Given the description of an element on the screen output the (x, y) to click on. 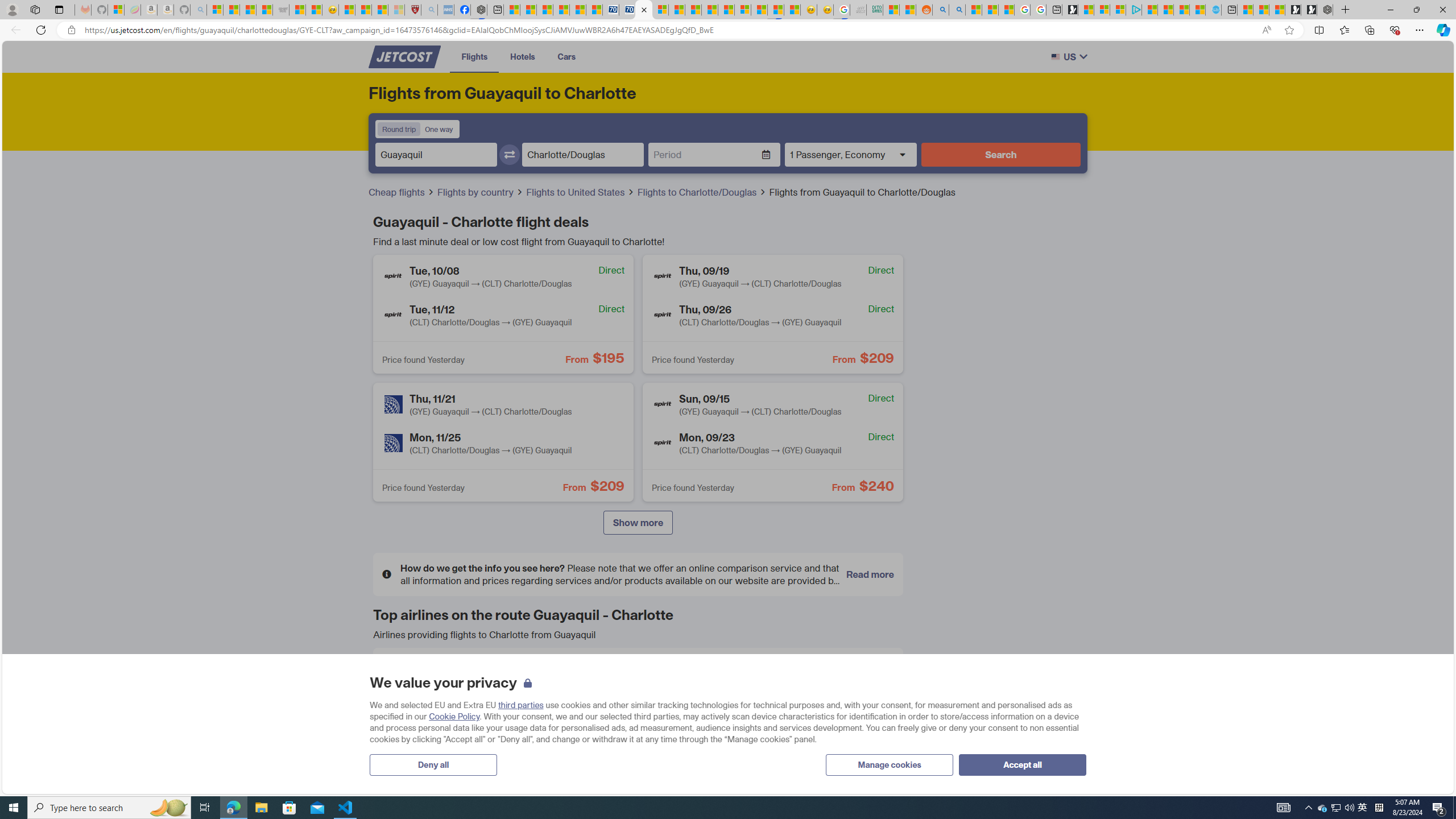
Copa Airlines (744, 674)
DELTA (400, 715)
Avianca (572, 674)
third parties (520, 705)
Terms and Conditions (613, 623)
